Given the description of an element on the screen output the (x, y) to click on. 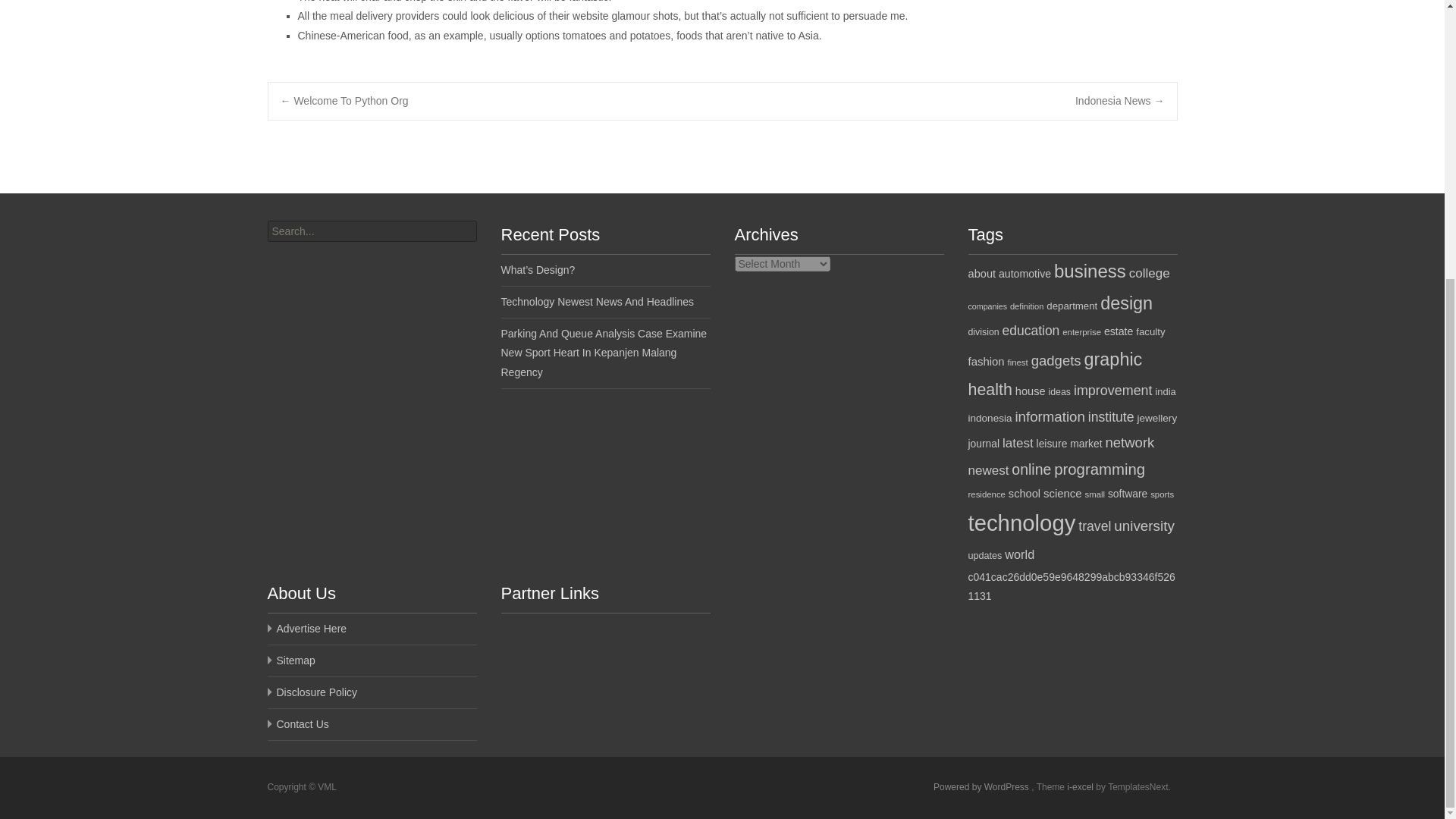
companies (987, 306)
business (1089, 271)
Search for: (371, 230)
division (983, 331)
department (1071, 306)
education (1031, 330)
about (981, 273)
design (1126, 302)
automotive (1024, 273)
Multipurpose Business WooCommerce Theme (1081, 787)
Semantic Personal Publishing Platform (981, 787)
definition (1026, 306)
college (1149, 273)
enterprise (1081, 331)
